Given the description of an element on the screen output the (x, y) to click on. 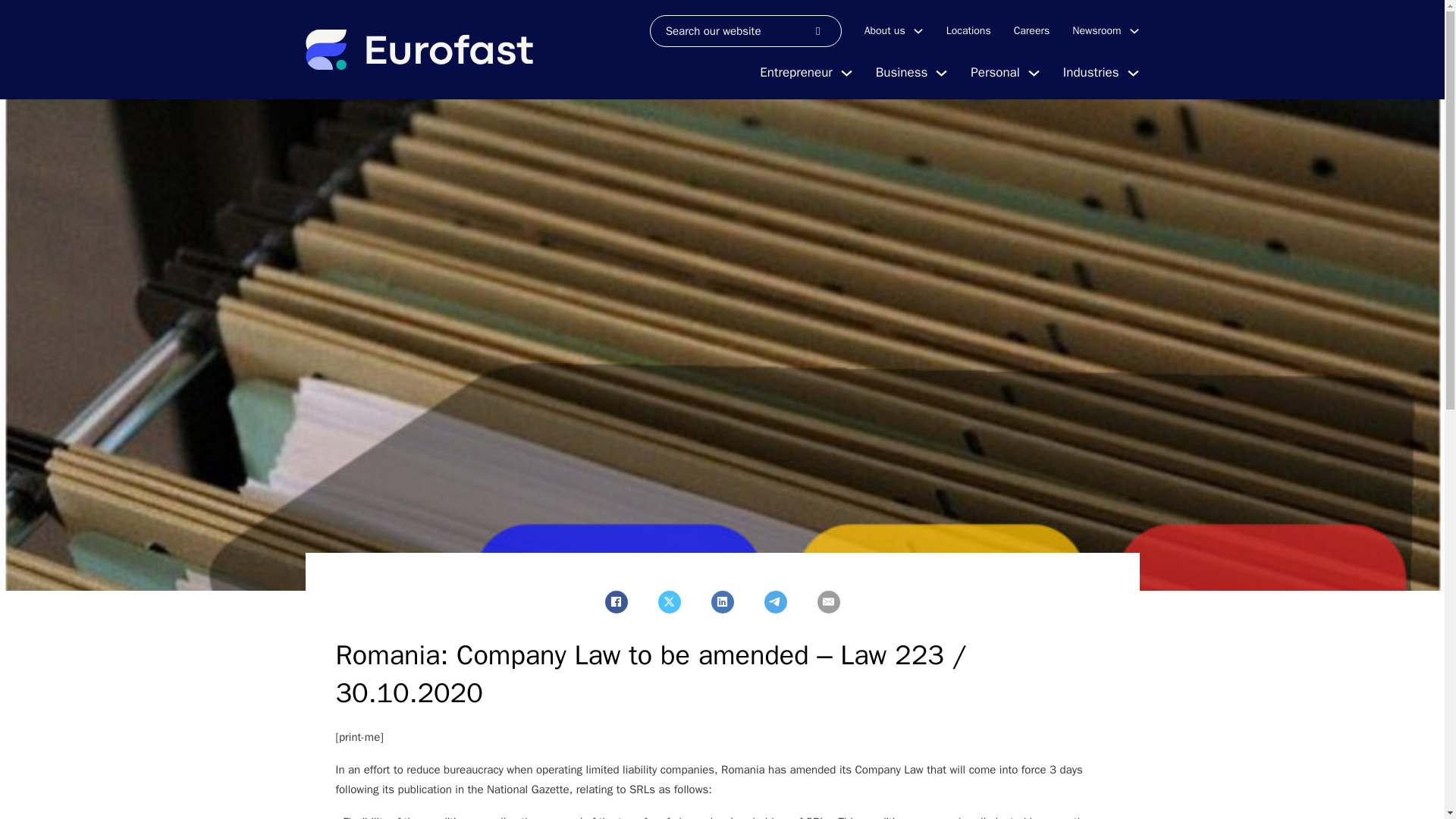
Careers (1031, 31)
Entrepreneur (795, 73)
Newsroom (1096, 31)
Locations (968, 31)
About us (884, 31)
